Given the description of an element on the screen output the (x, y) to click on. 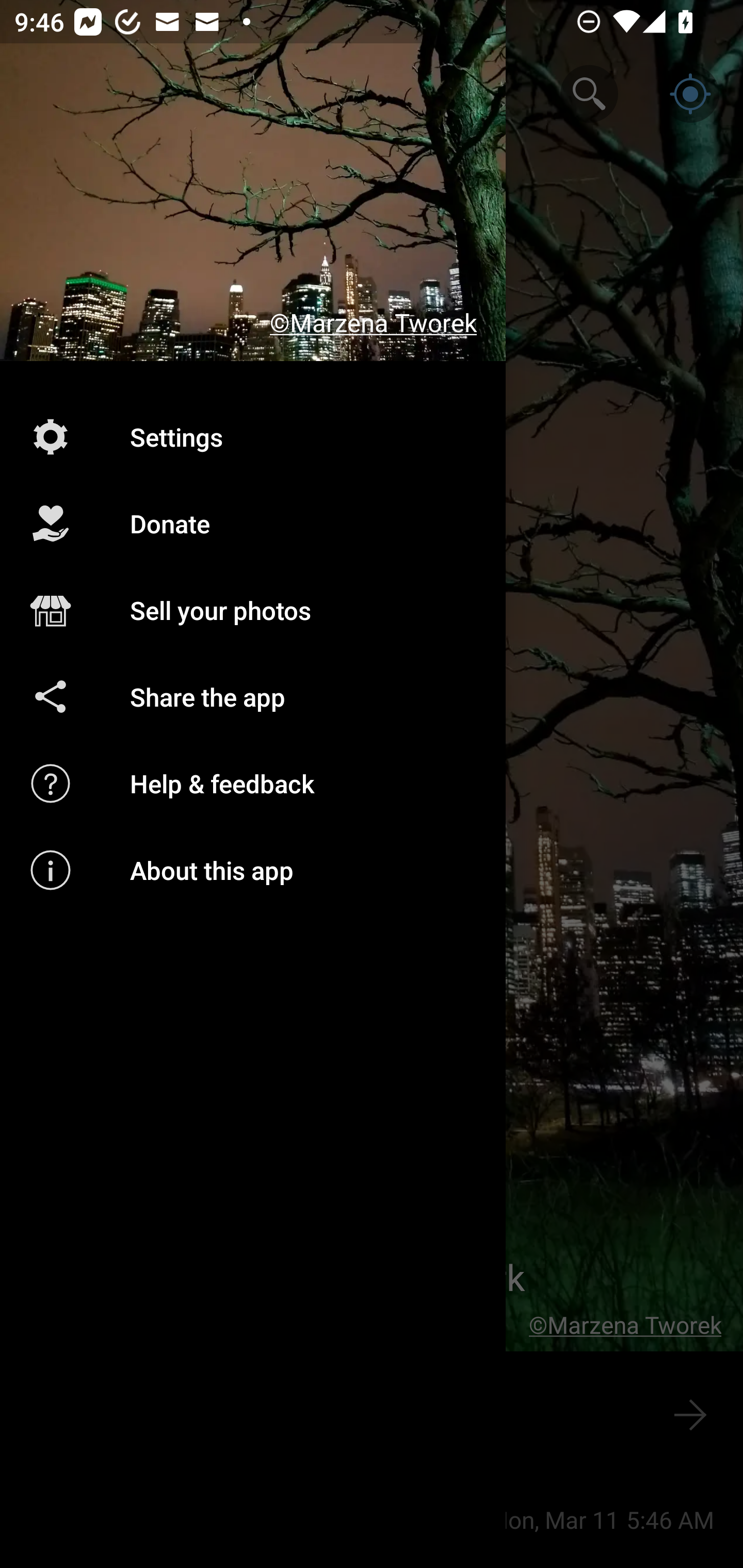
©Marzena Tworek (252, 180)
Settings (252, 436)
Donate (252, 523)
Sell your photos (252, 610)
Share the app (252, 696)
Help & feedback (252, 783)
About this app (252, 870)
